Given the description of an element on the screen output the (x, y) to click on. 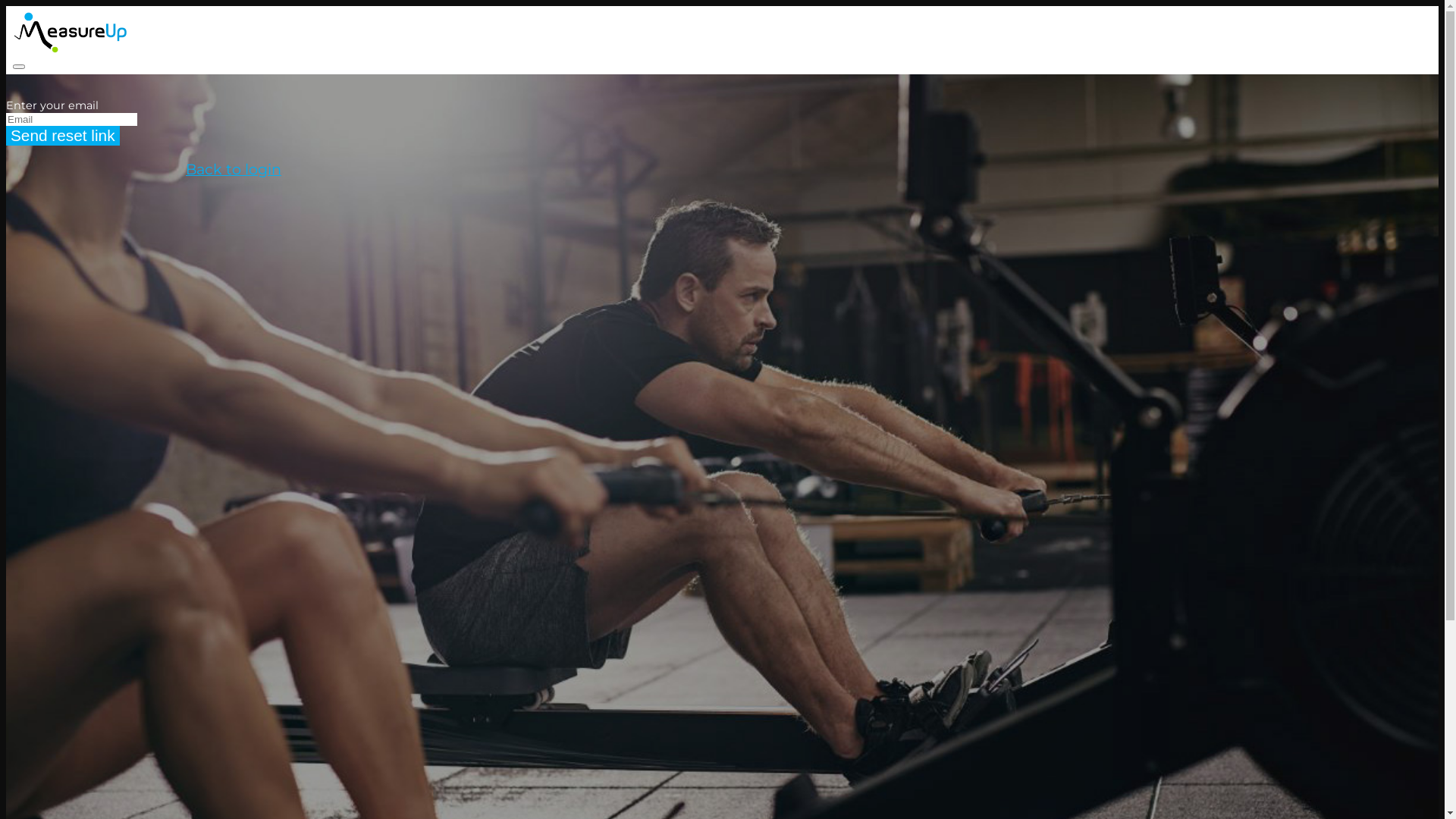
Send reset link Element type: text (62, 135)
Back to login Element type: text (233, 169)
